Given the description of an element on the screen output the (x, y) to click on. 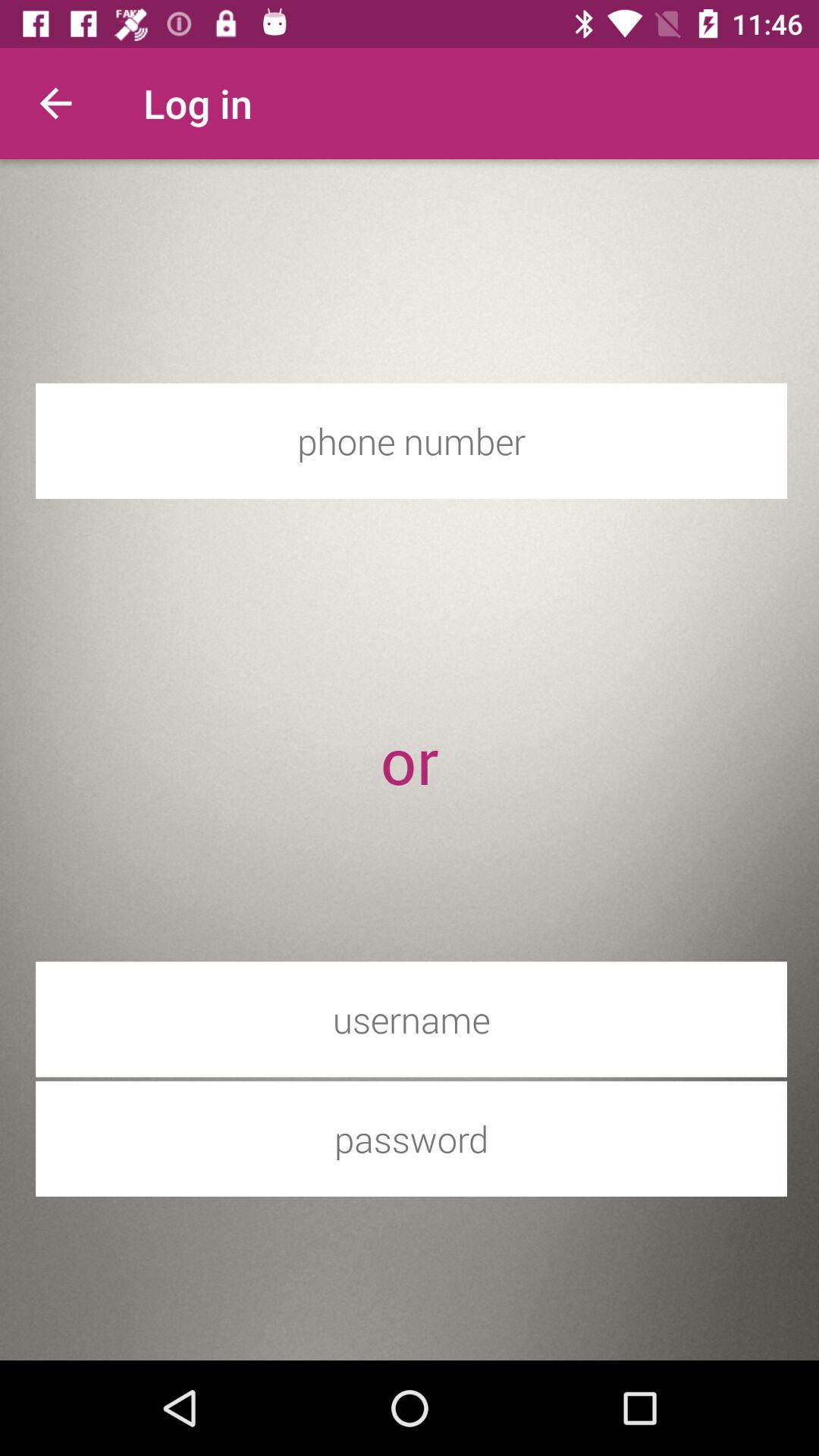
turn off the icon next to the log in icon (55, 103)
